Given the description of an element on the screen output the (x, y) to click on. 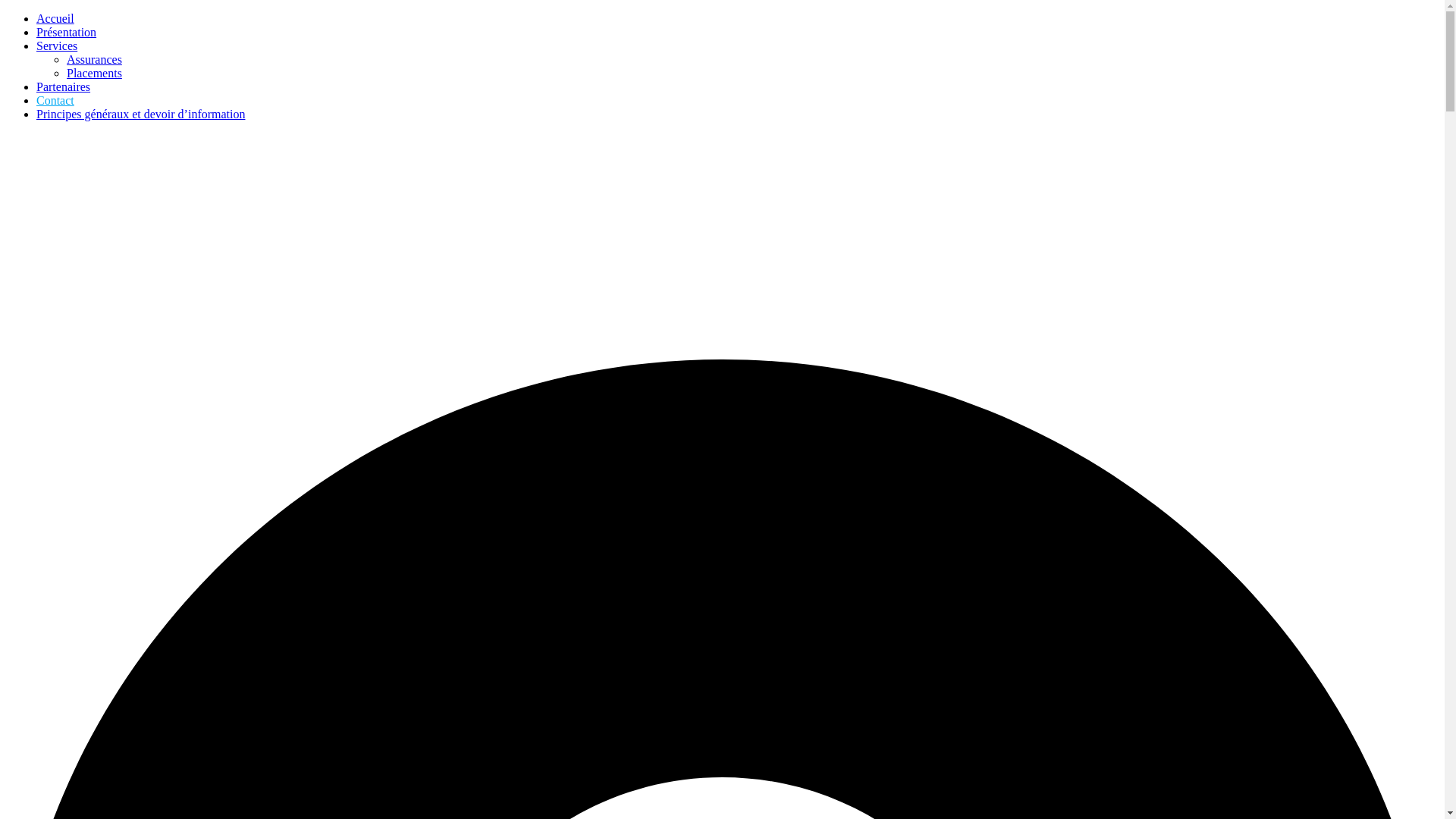
Services Element type: text (56, 45)
Accueil Element type: text (55, 18)
Contact Element type: text (55, 100)
Assurances Element type: text (94, 59)
Partenaires Element type: text (63, 86)
Placements Element type: text (94, 72)
